Given the description of an element on the screen output the (x, y) to click on. 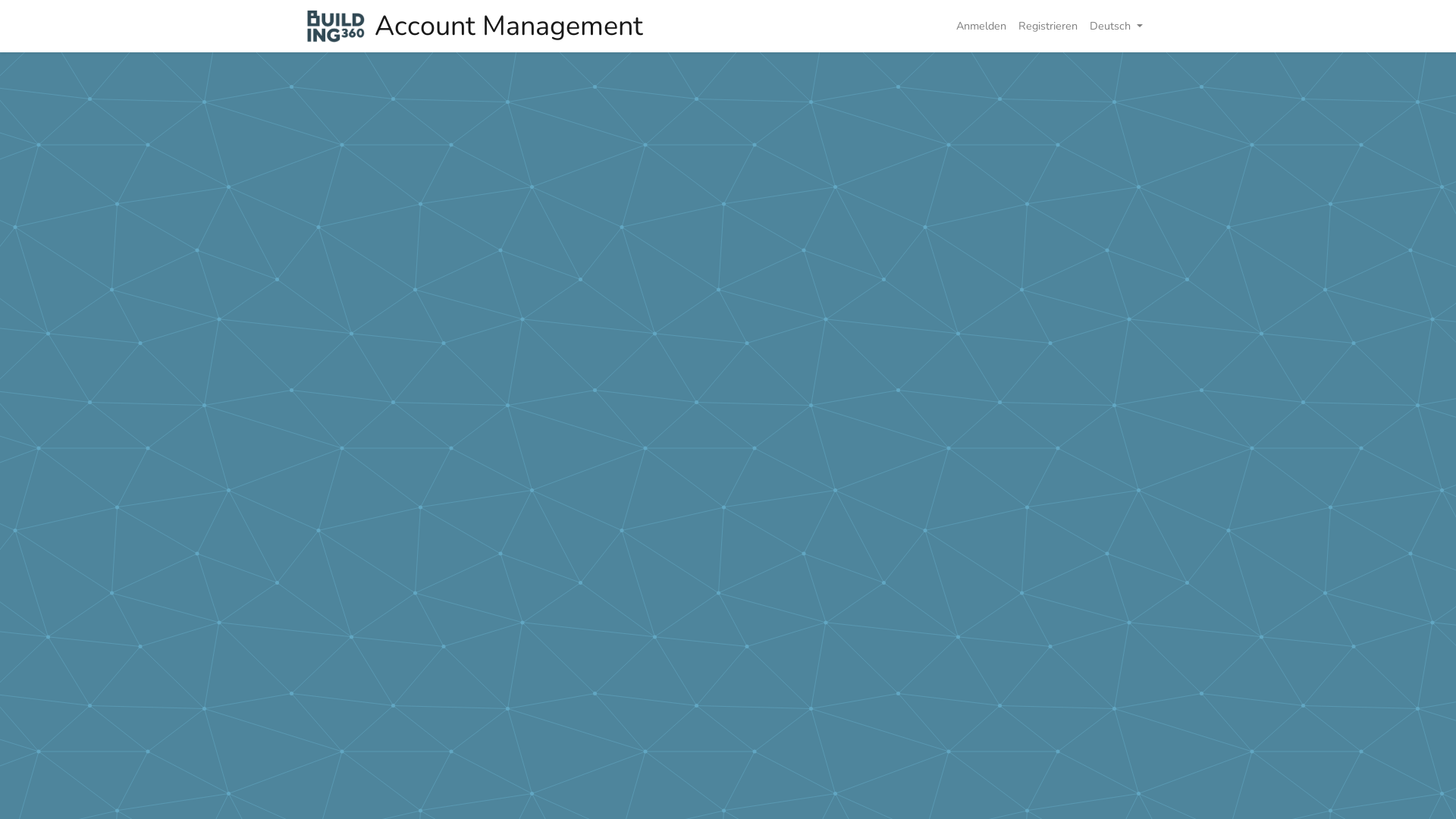
Account Management Element type: text (475, 26)
Deutsch Element type: text (1115, 25)
Registrieren Element type: text (1047, 25)
Anmelden Element type: text (981, 25)
